Given the description of an element on the screen output the (x, y) to click on. 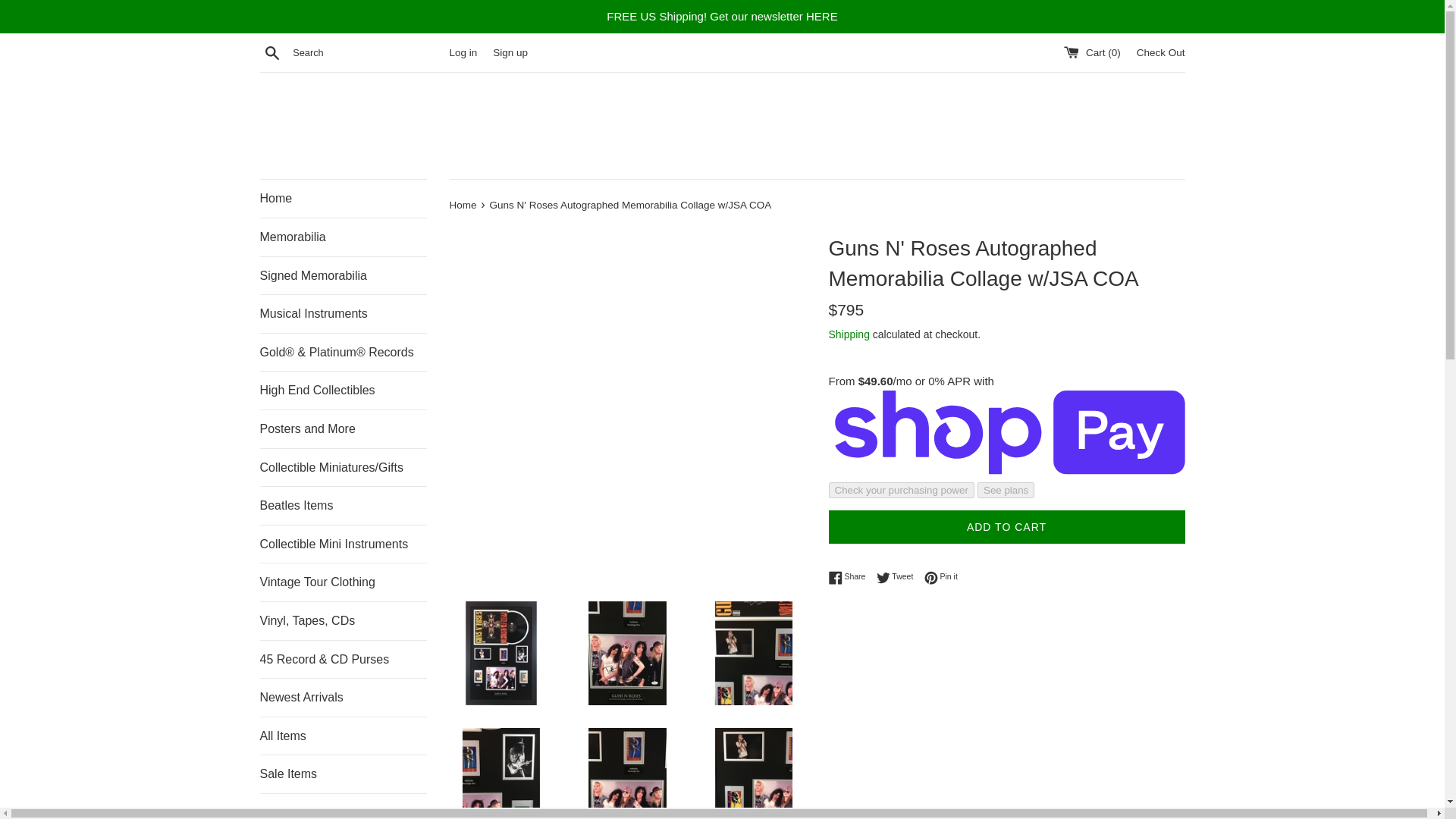
All Items (342, 736)
Collectible Mini Instruments (342, 544)
Musical Instruments (342, 313)
Home (342, 198)
Search (271, 52)
Vinyl, Tapes, CDs (342, 620)
Tweet on Twitter (898, 576)
Vintage Tour Clothing (342, 582)
Memorabilia (342, 237)
Sign up (510, 52)
Back to the frontpage (463, 204)
Check Out (1161, 52)
Beatles Items (342, 505)
Log in (462, 52)
FREE US Shipping! Get our newsletter HERE (725, 16)
